Given the description of an element on the screen output the (x, y) to click on. 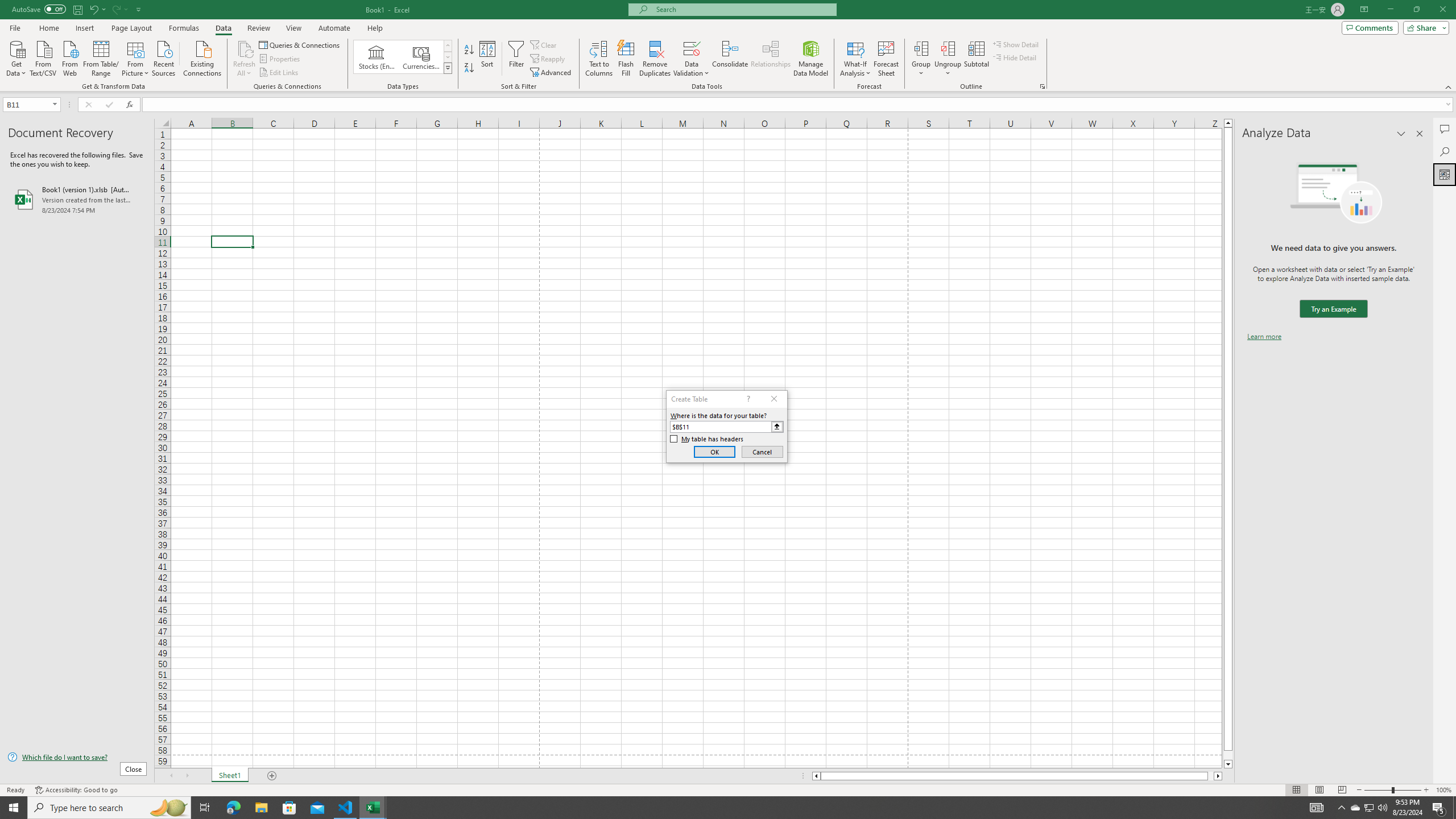
Learn more (1264, 336)
Formula Bar (799, 104)
Flash Fill (625, 58)
Queries & Connections (300, 44)
Existing Connections (202, 57)
